Given the description of an element on the screen output the (x, y) to click on. 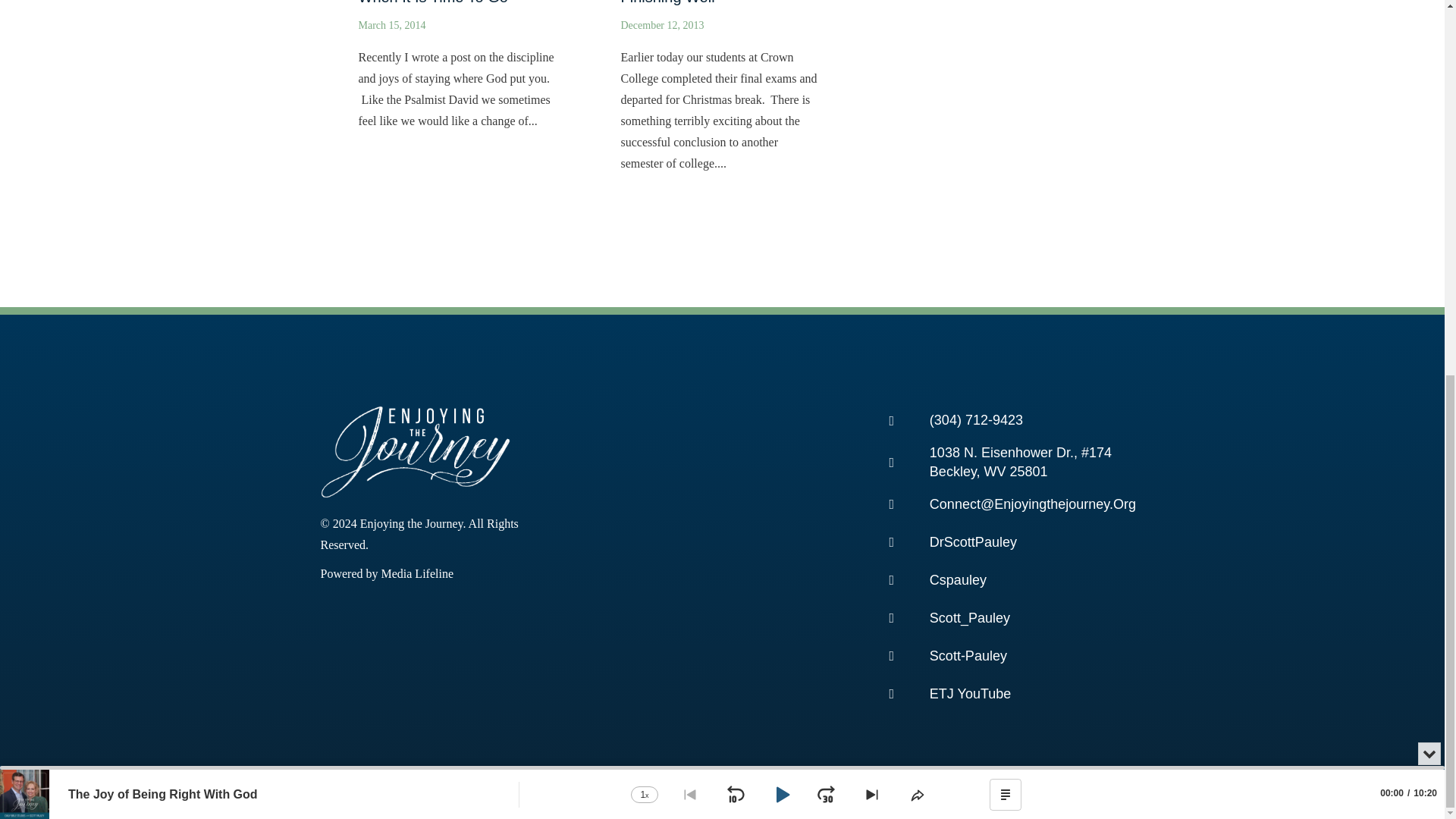
Media Lifeline (416, 573)
DrScottPauley (1000, 542)
etj-logo (414, 451)
When It Is Time to Go (458, 79)
Scott-Pauley (1000, 655)
Cspauley (1000, 580)
Finishing Well (720, 100)
ETJ YouTube (1000, 693)
